Given the description of an element on the screen output the (x, y) to click on. 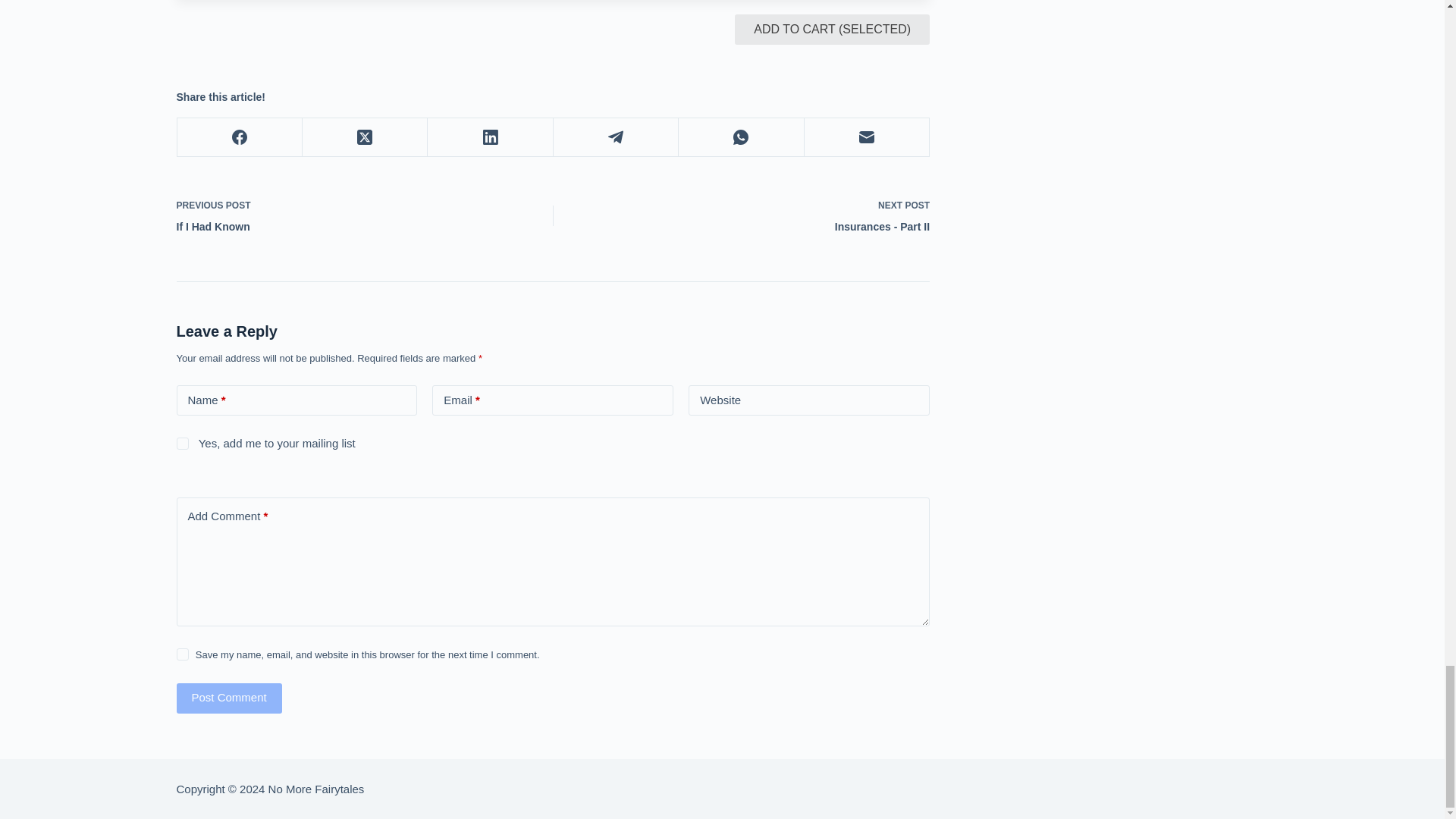
yes (181, 654)
1 (181, 443)
